Given the description of an element on the screen output the (x, y) to click on. 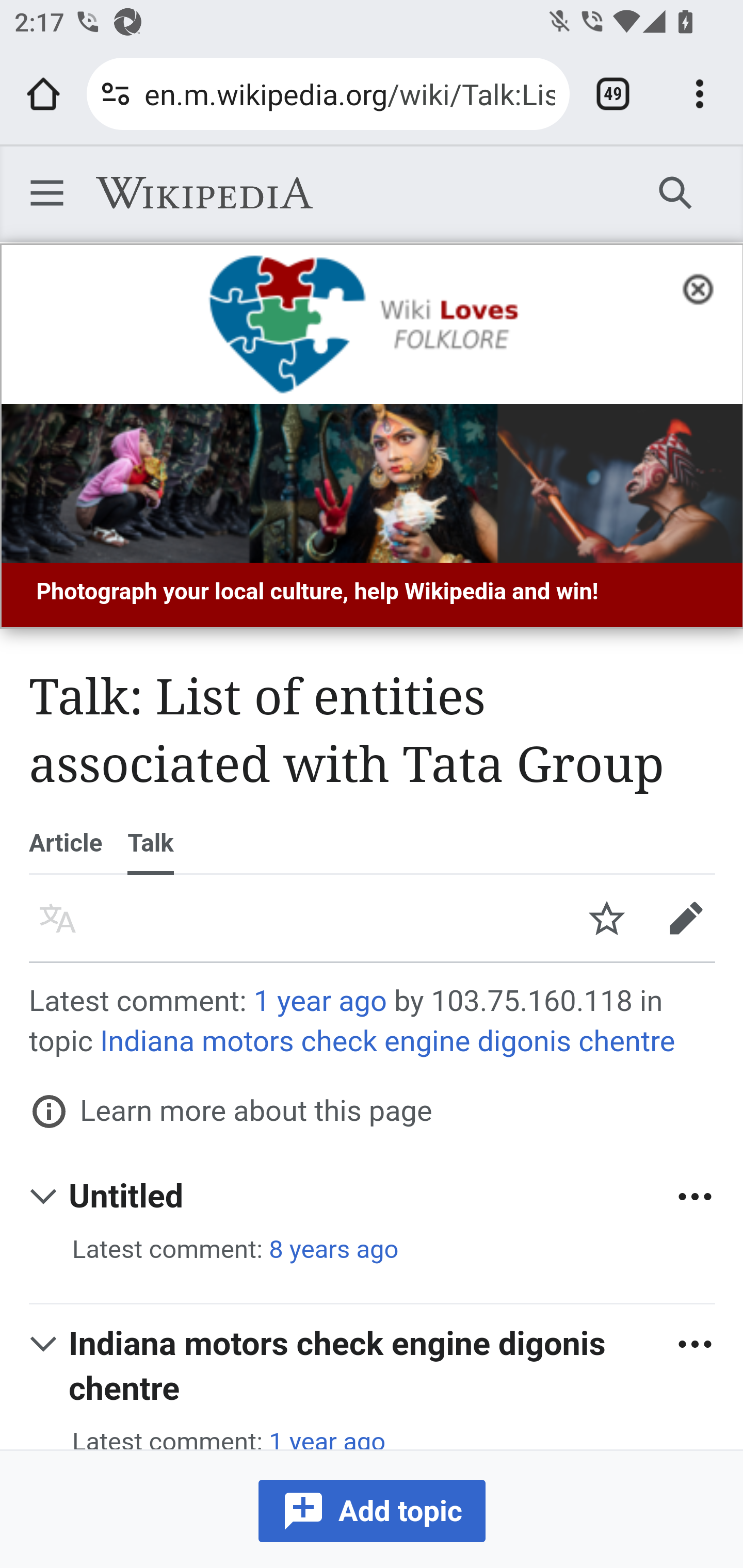
Open the home page (43, 93)
Connection is secure (115, 93)
Switch or close tabs (612, 93)
Customize and control Google Chrome (699, 93)
